Given the description of an element on the screen output the (x, y) to click on. 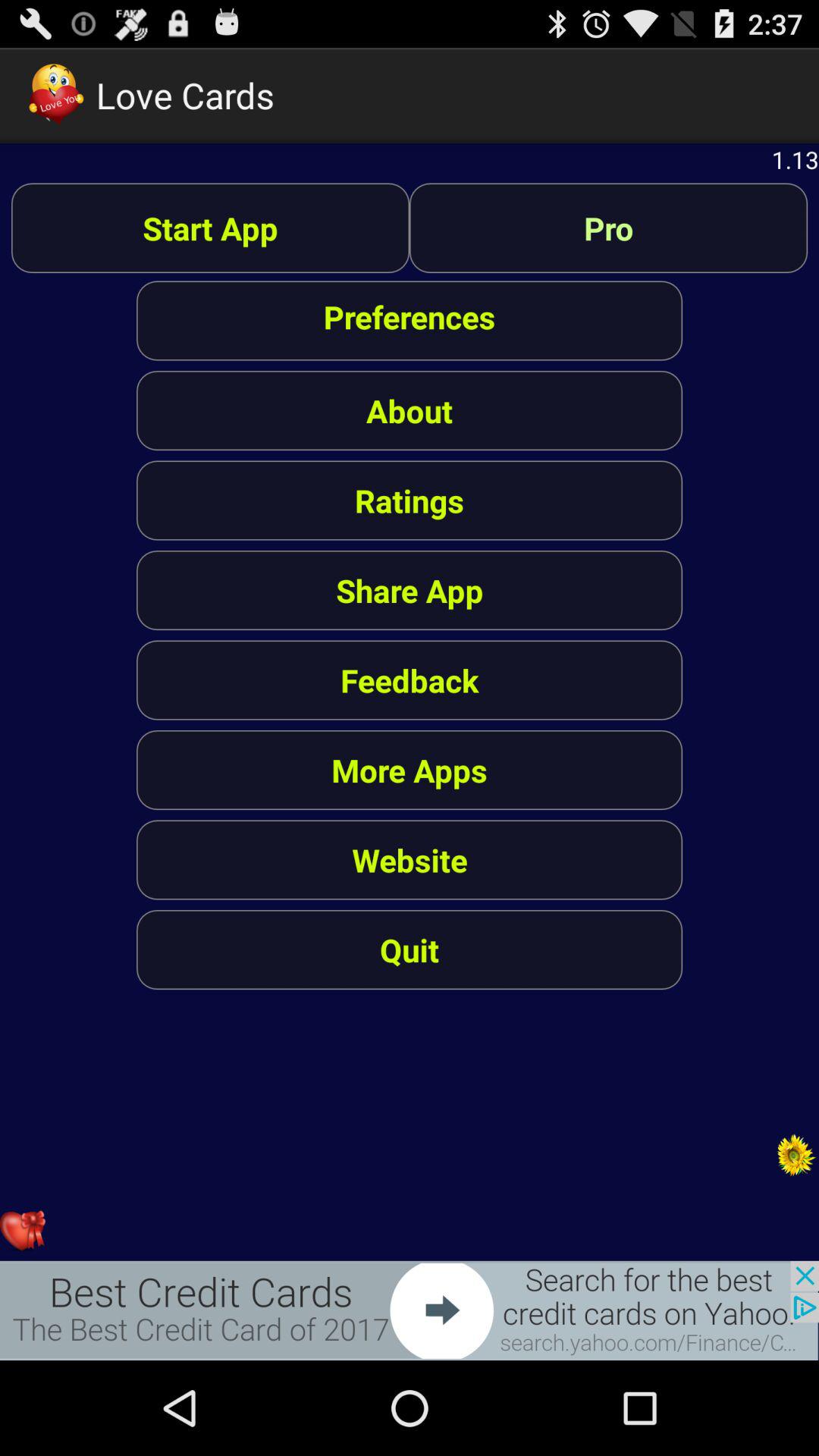
advertisement link (409, 1310)
